Given the description of an element on the screen output the (x, y) to click on. 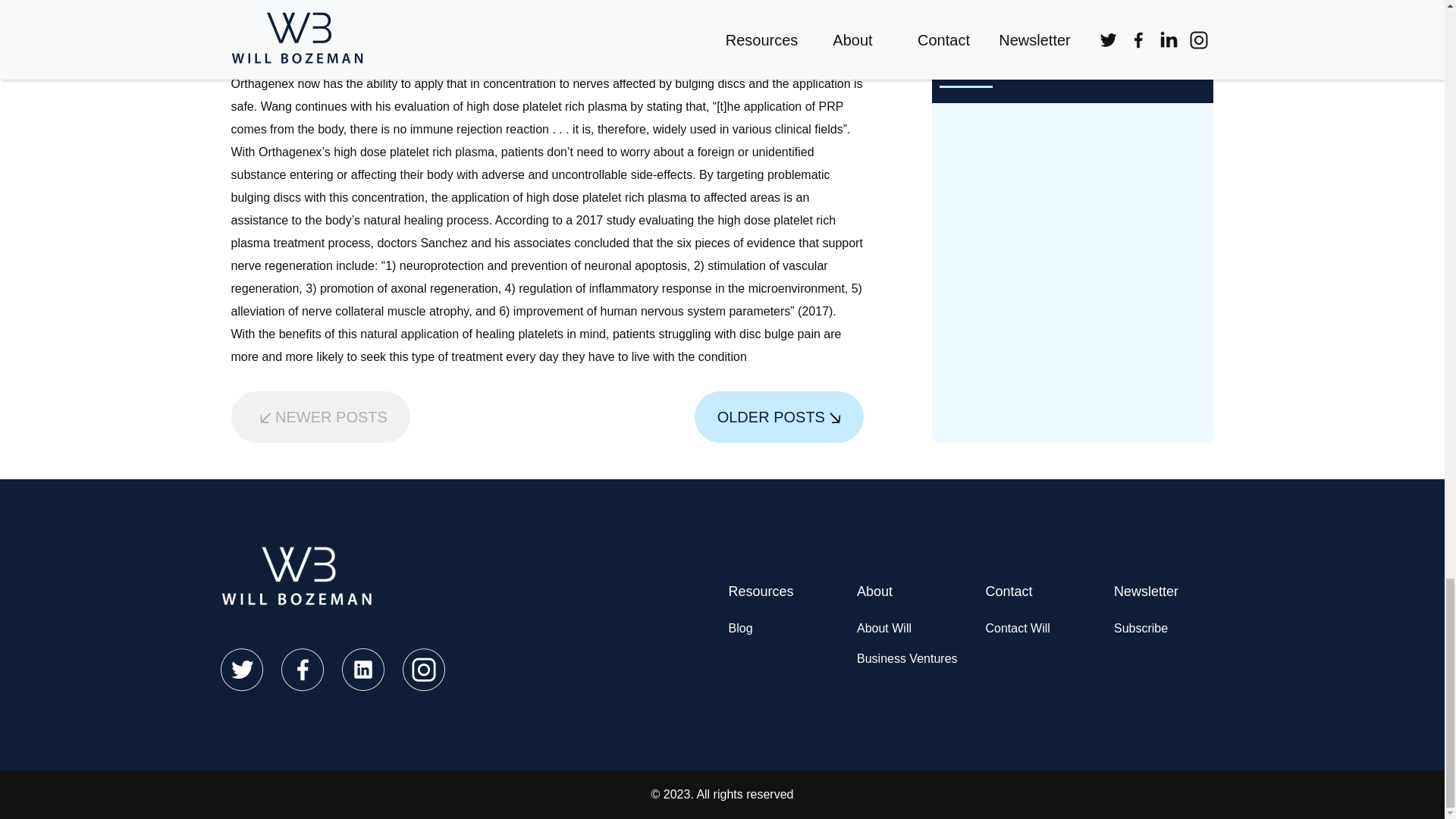
Contact Will (1017, 627)
About Will (884, 627)
NEWER POSTS (319, 417)
Subscribe (1140, 627)
OLDER POSTS (778, 417)
Blog (740, 627)
Business Ventures (907, 658)
